Given the description of an element on the screen output the (x, y) to click on. 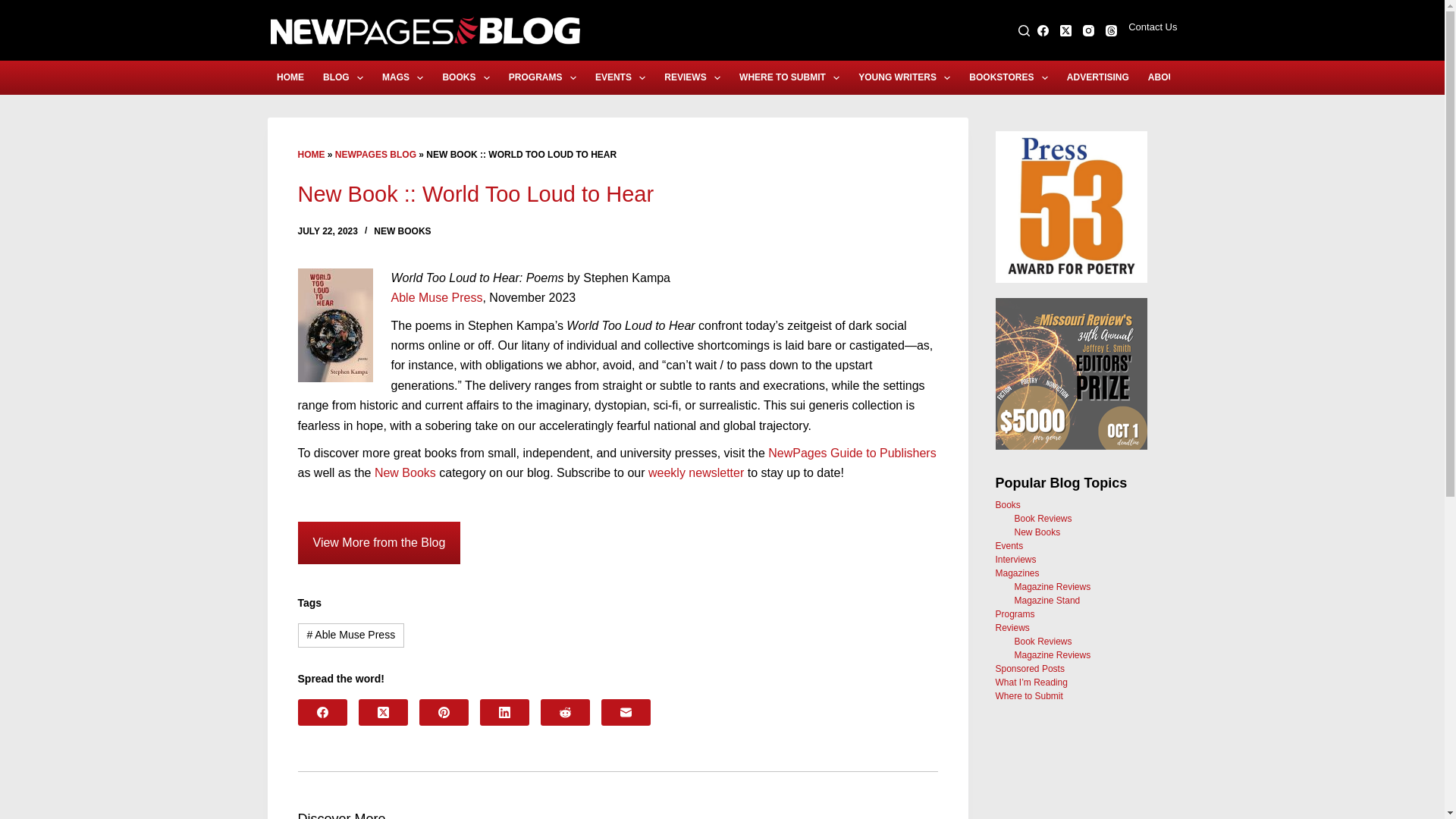
Skip to content (15, 7)
New Book :: World Too Loud to Hear (617, 194)
